Given the description of an element on the screen output the (x, y) to click on. 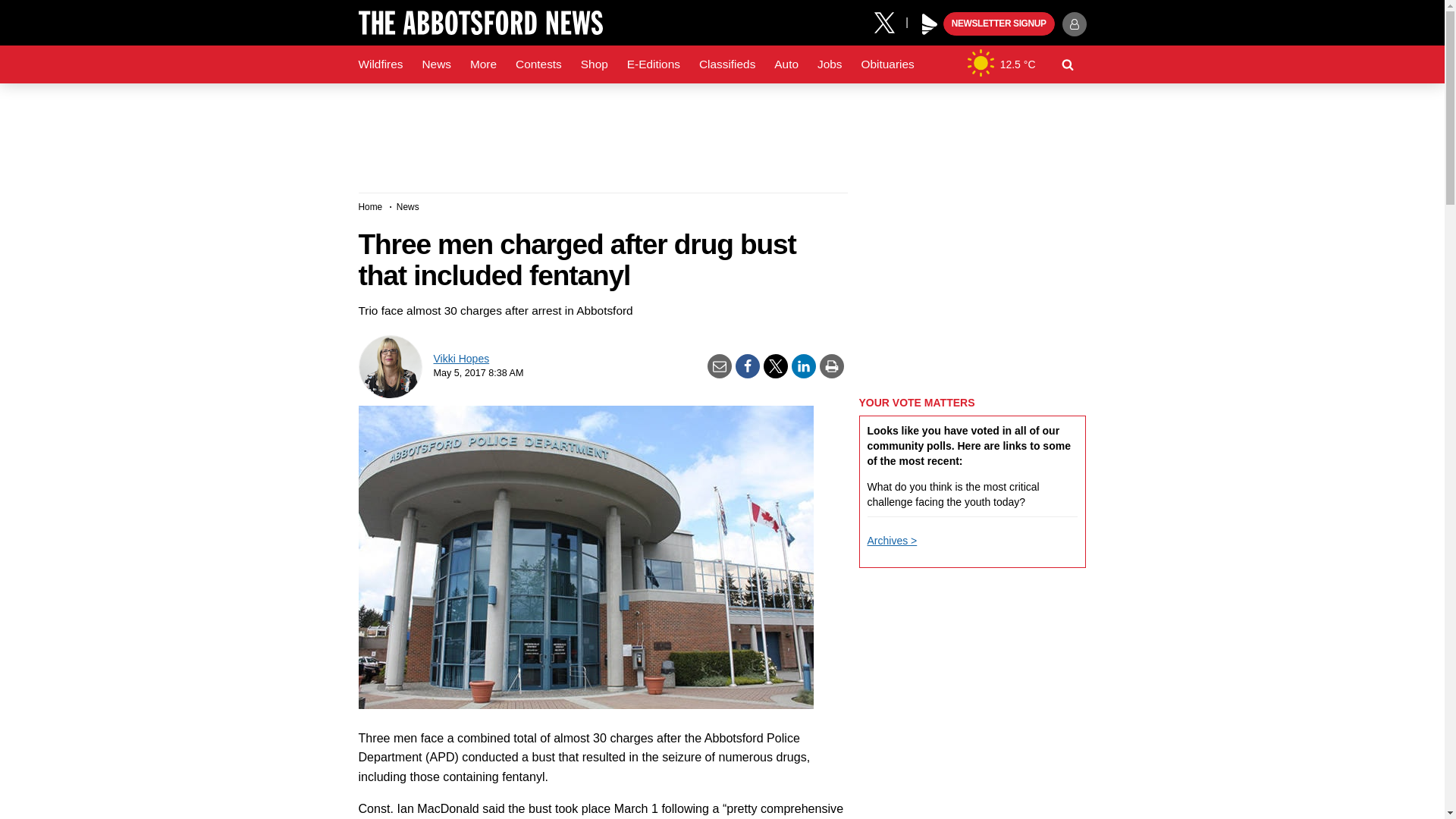
Wildfires (380, 64)
Black Press Media (929, 24)
X (889, 21)
NEWSLETTER SIGNUP (998, 24)
Play (929, 24)
News (435, 64)
